Given the description of an element on the screen output the (x, y) to click on. 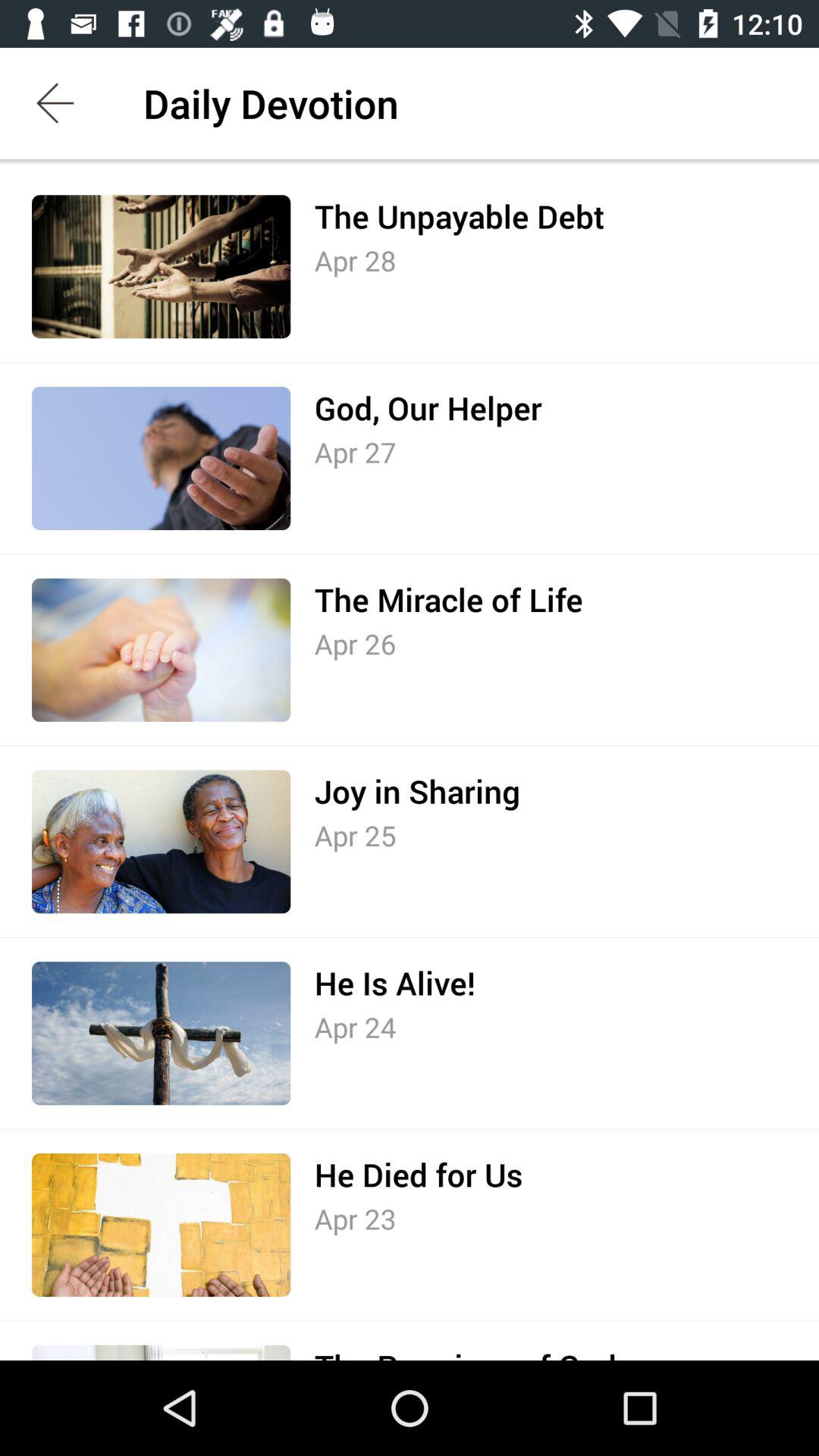
press the he is alive! (394, 982)
